Given the description of an element on the screen output the (x, y) to click on. 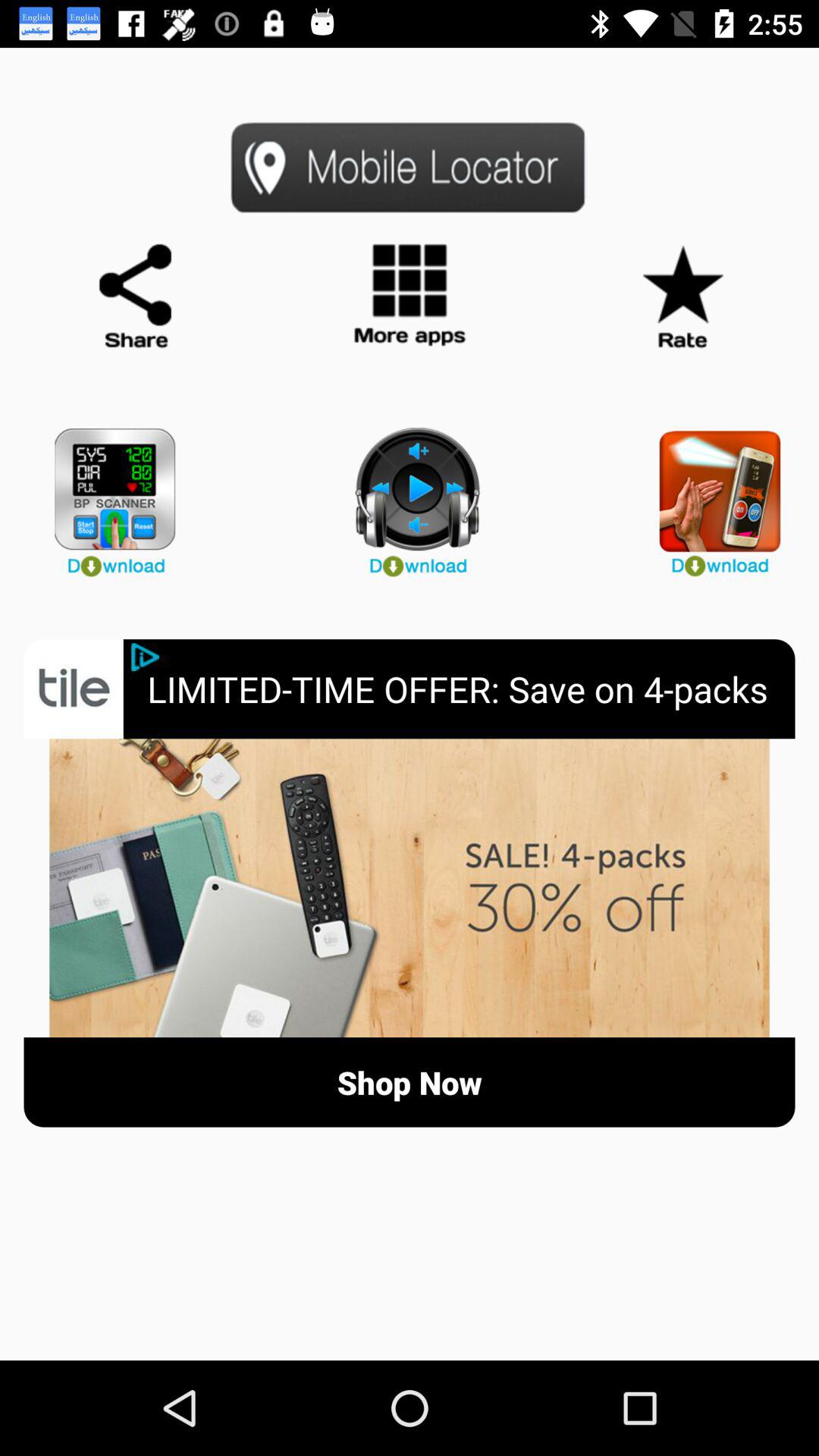
open the icon on the right (711, 495)
